Given the description of an element on the screen output the (x, y) to click on. 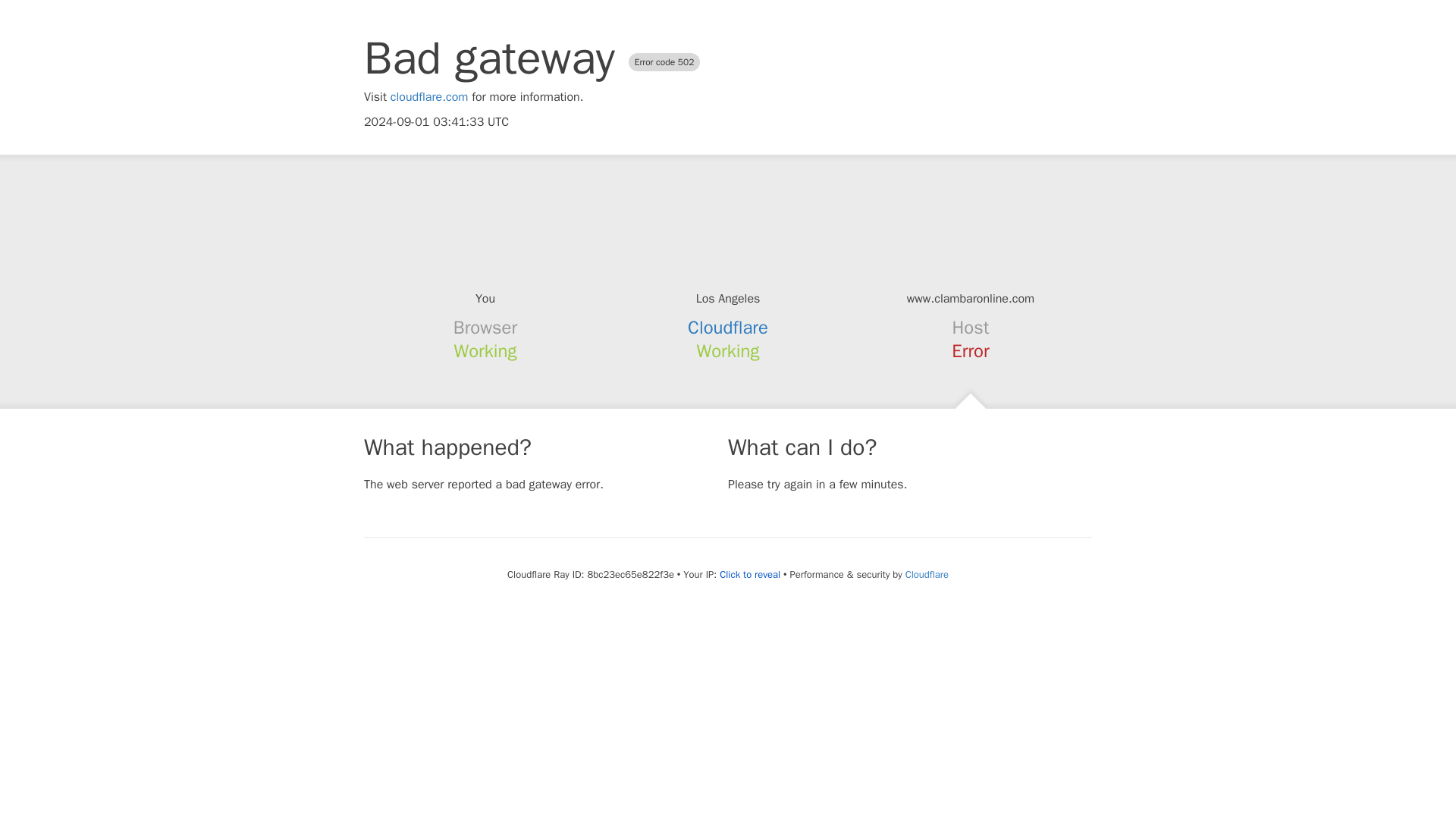
Cloudflare (727, 327)
cloudflare.com (429, 96)
Cloudflare (927, 574)
Click to reveal (749, 574)
